Given the description of an element on the screen output the (x, y) to click on. 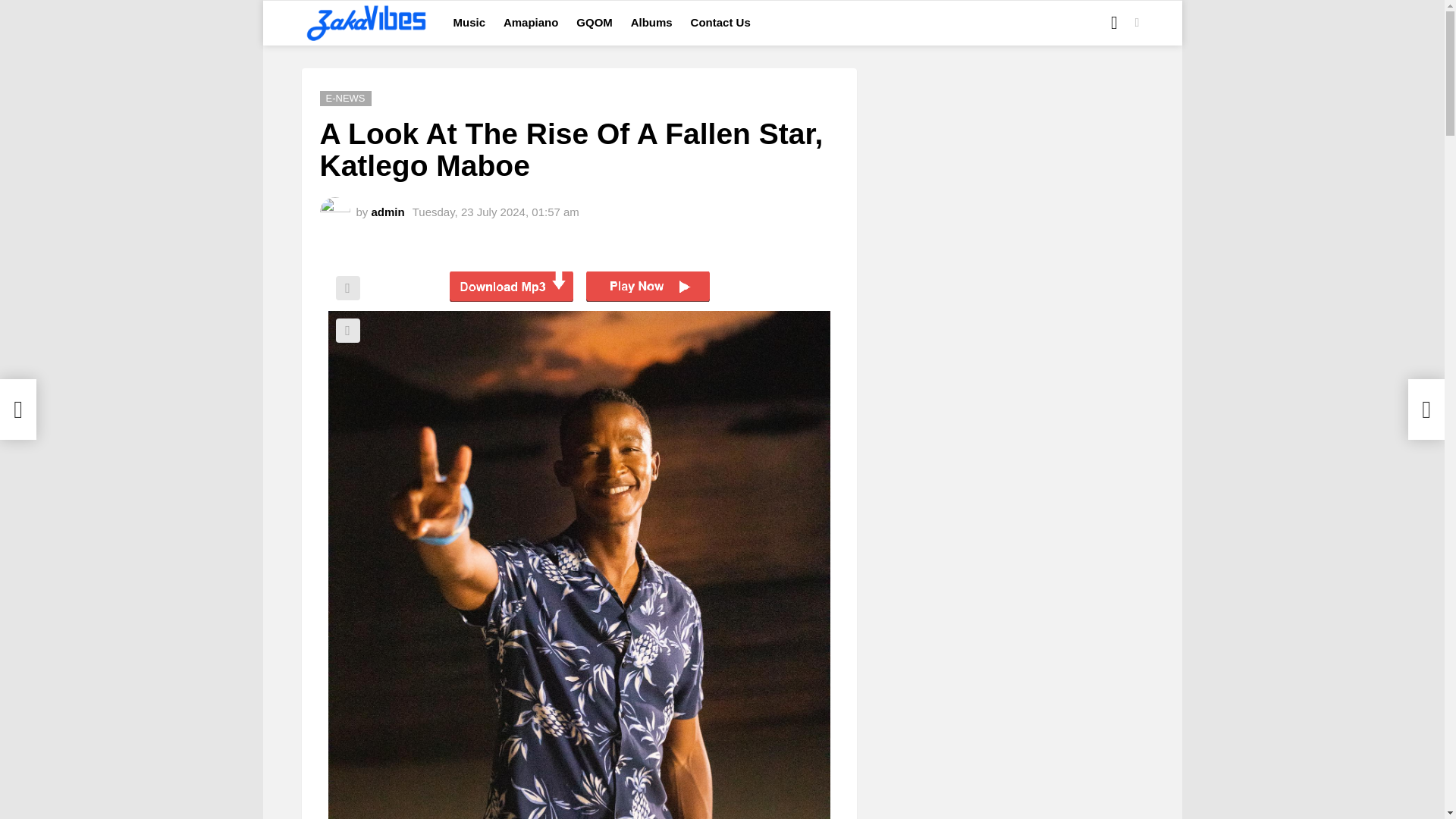
Contact Us (720, 22)
Posts by admin (387, 210)
GQOM (594, 22)
Amapiano (531, 22)
Share (346, 330)
Share (346, 288)
Music (469, 22)
Albums (651, 22)
admin (387, 210)
E-NEWS (345, 98)
